Given the description of an element on the screen output the (x, y) to click on. 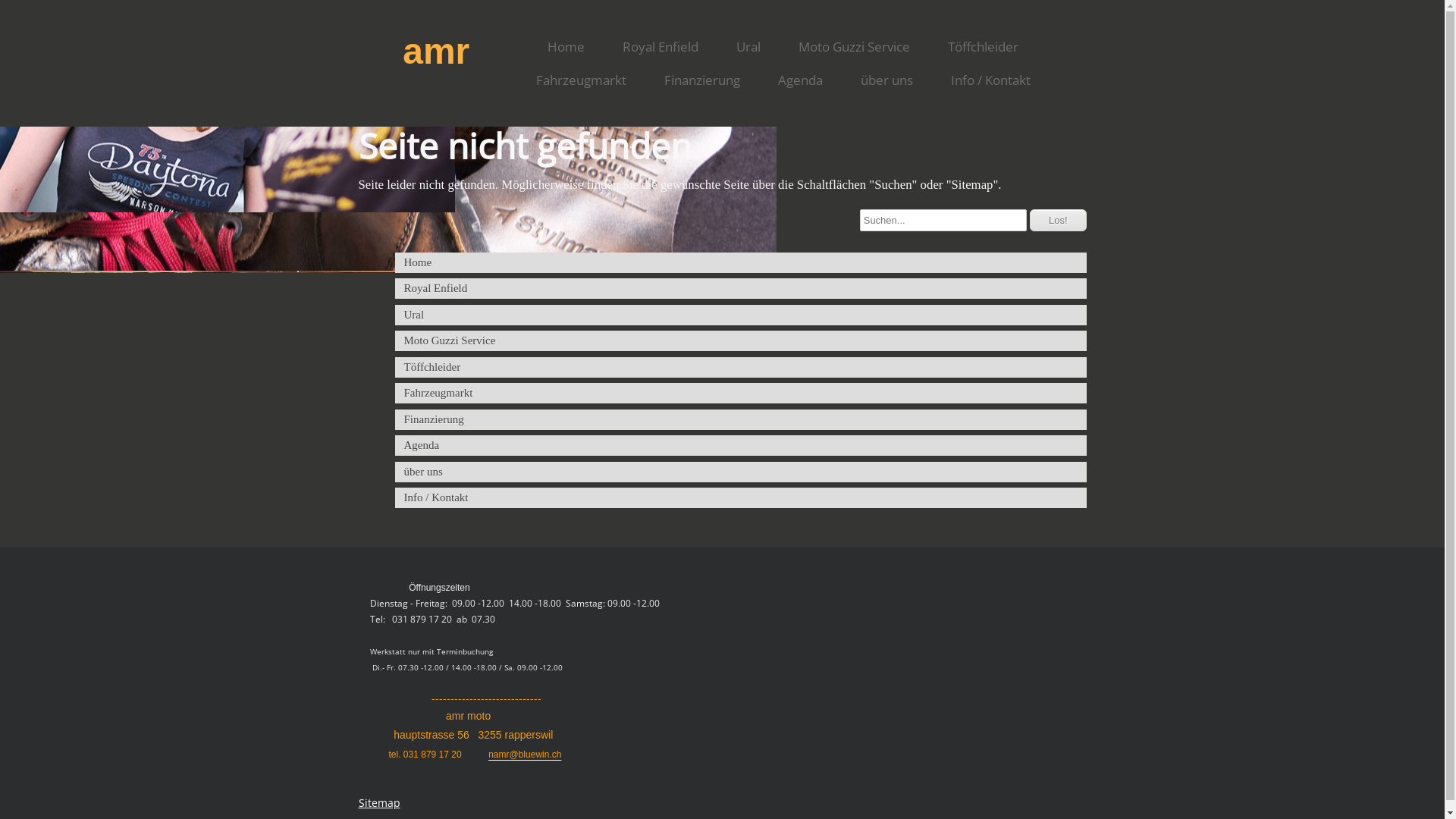
Home Element type: text (565, 46)
Info / Kontakt Element type: text (990, 80)
Los! Element type: text (1057, 220)
Ural Element type: text (748, 46)
Moto Guzzi Service Element type: text (853, 46)
Moto Guzzi Service Element type: text (739, 340)
namr@bluewin.ch Element type: text (524, 754)
Info / Kontakt Element type: text (739, 497)
Finanzierung Element type: text (702, 80)
Home Element type: text (739, 262)
Ural Element type: text (739, 314)
Royal Enfield Element type: text (739, 288)
Fahrzeugmarkt Element type: text (581, 80)
Agenda Element type: text (800, 80)
Royal Enfield Element type: text (660, 46)
Fahrzeugmarkt Element type: text (739, 392)
Finanzierung Element type: text (739, 419)
Sitemap Element type: text (378, 802)
          amr  Element type: text (418, 51)
Agenda Element type: text (739, 445)
